Given the description of an element on the screen output the (x, y) to click on. 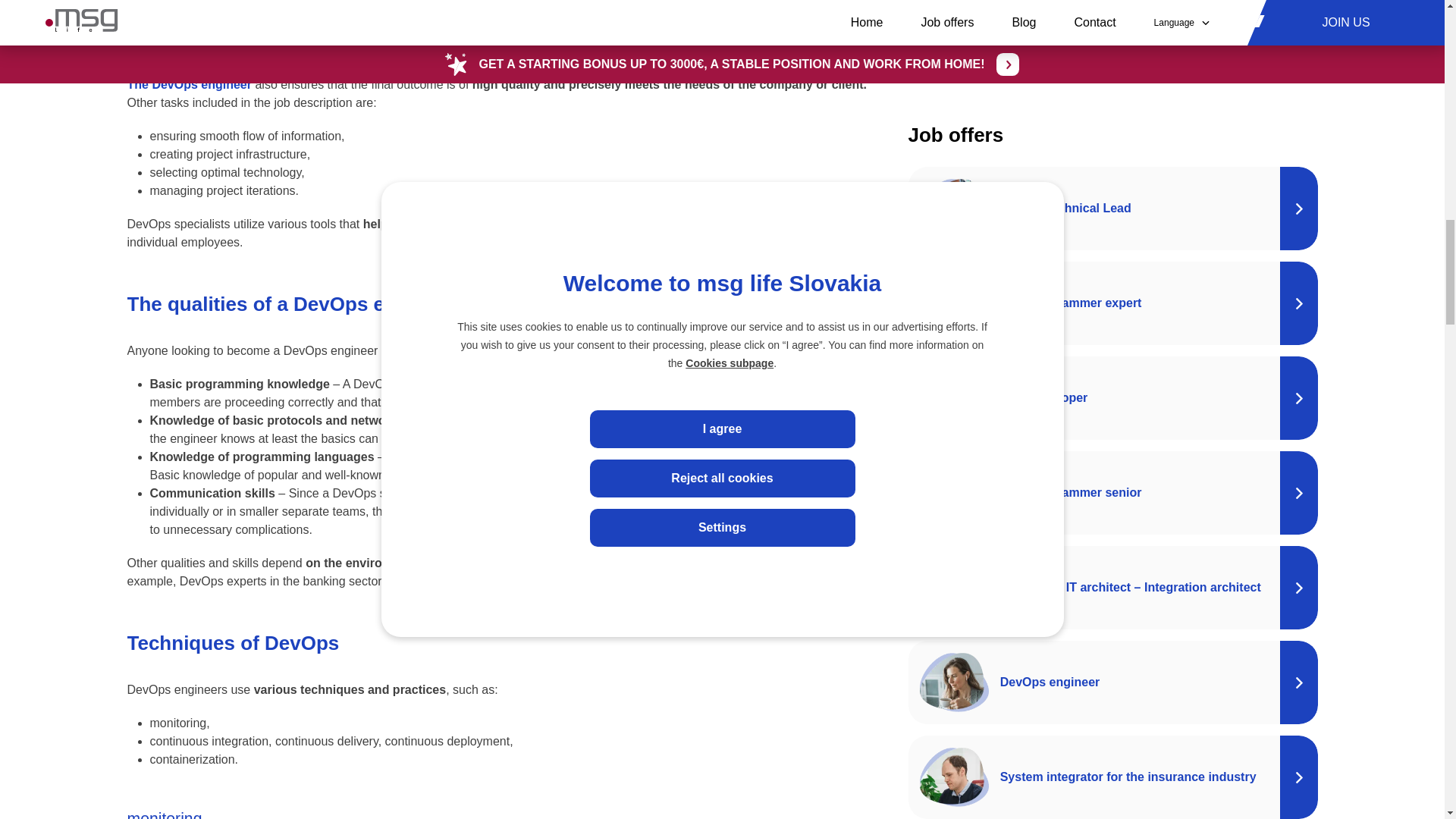
senior Java developer (672, 456)
The DevOps engineer (189, 83)
